Given the description of an element on the screen output the (x, y) to click on. 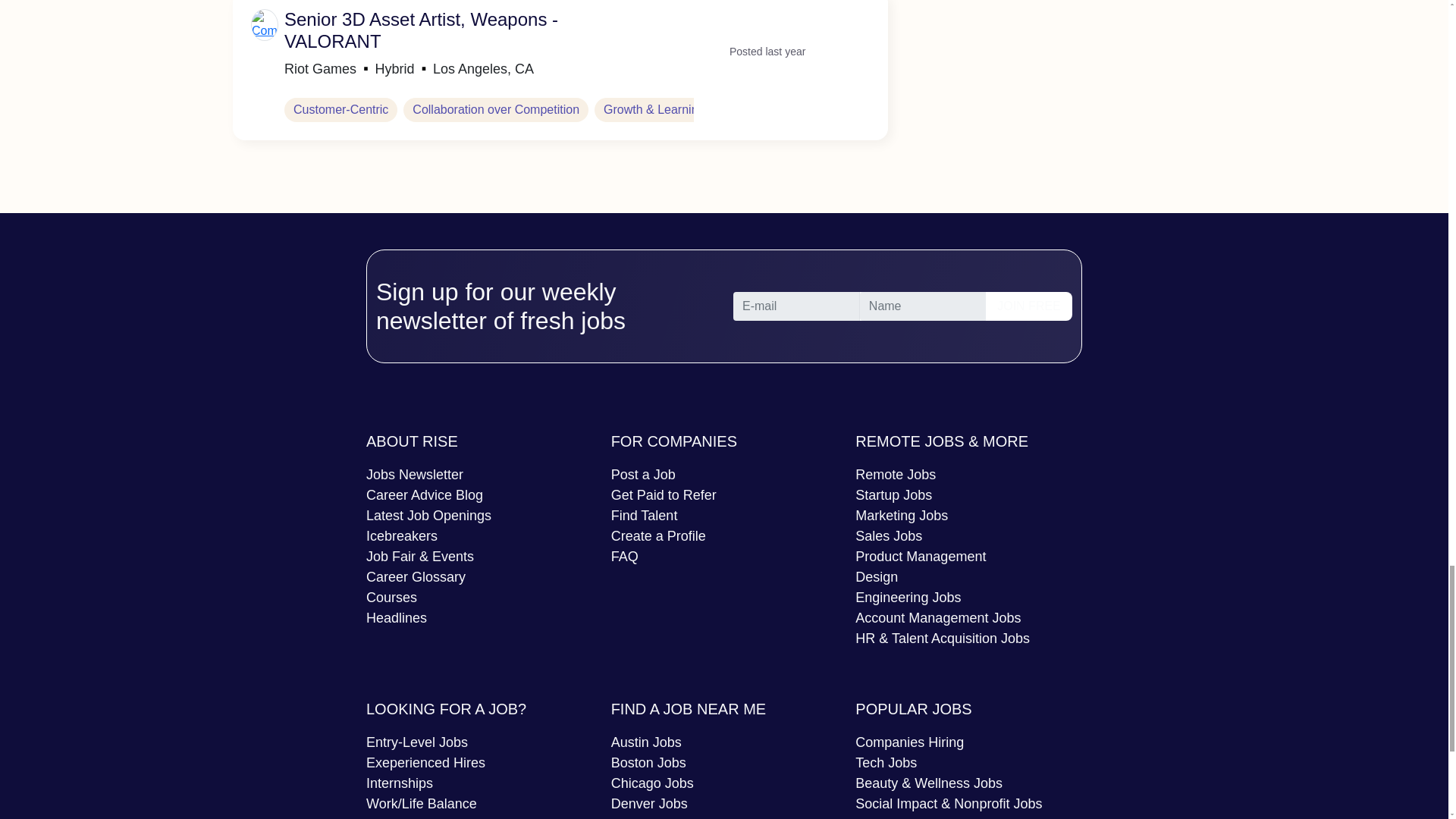
VIEW (754, 23)
Riot Games (327, 69)
Senior 3D Asset Artist, Weapons - VALORANT (420, 30)
